Given the description of an element on the screen output the (x, y) to click on. 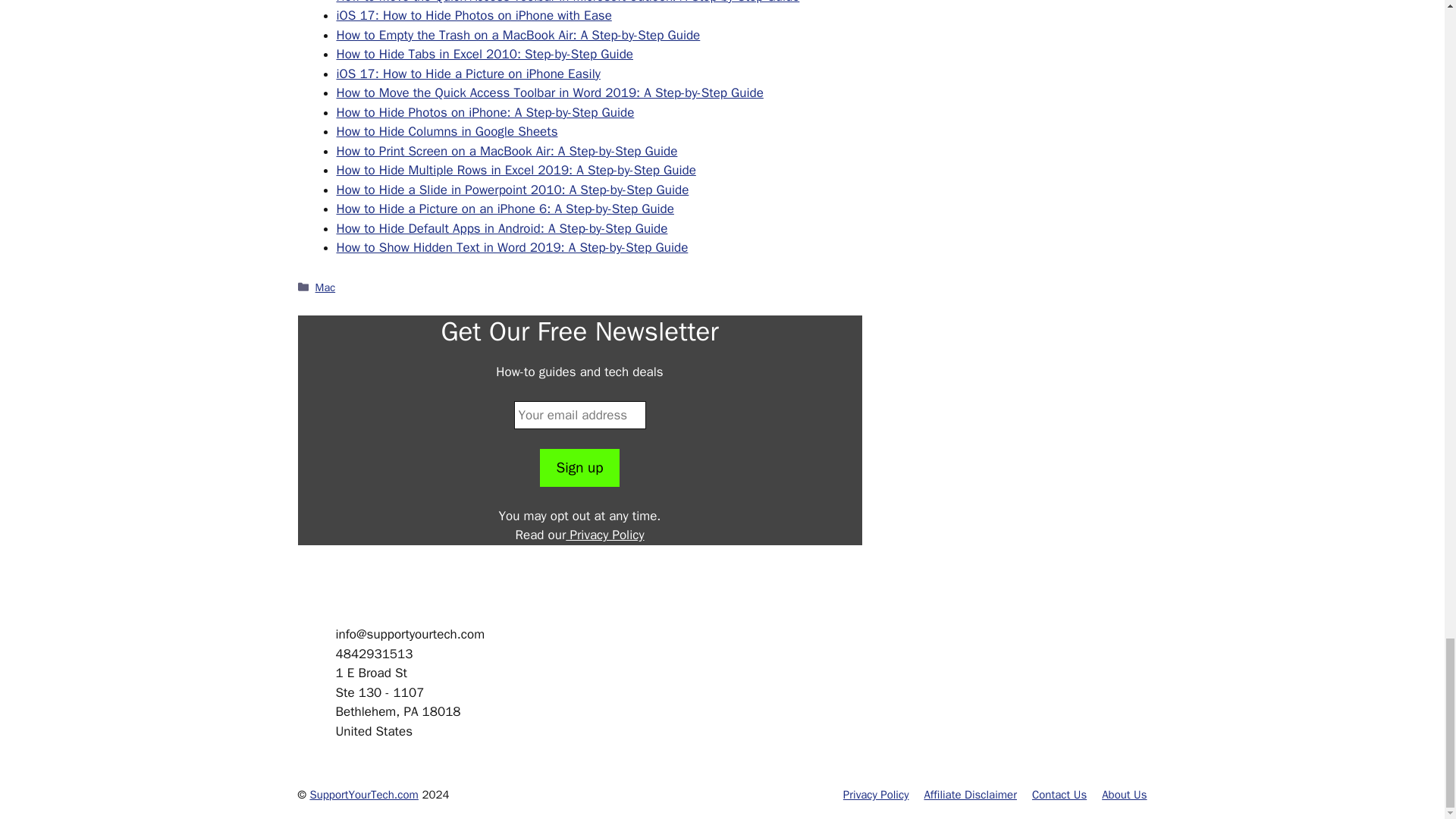
How to Hide Photos on iPhone: A Step-by-Step Guide (485, 112)
How to Hide Default Apps in Android: A Step-by-Step Guide (502, 228)
Mac (325, 287)
How to Hide a Slide in Powerpoint 2010: A Step-by-Step Guide (512, 189)
iOS 17: How to Hide a Picture on iPhone Easily (467, 73)
How to Hide Tabs in Excel 2010: Step-by-Step Guide (484, 53)
How to Hide Columns in Google Sheets (446, 131)
iOS 17: How to Hide Photos on iPhone with Ease (473, 15)
